Given the description of an element on the screen output the (x, y) to click on. 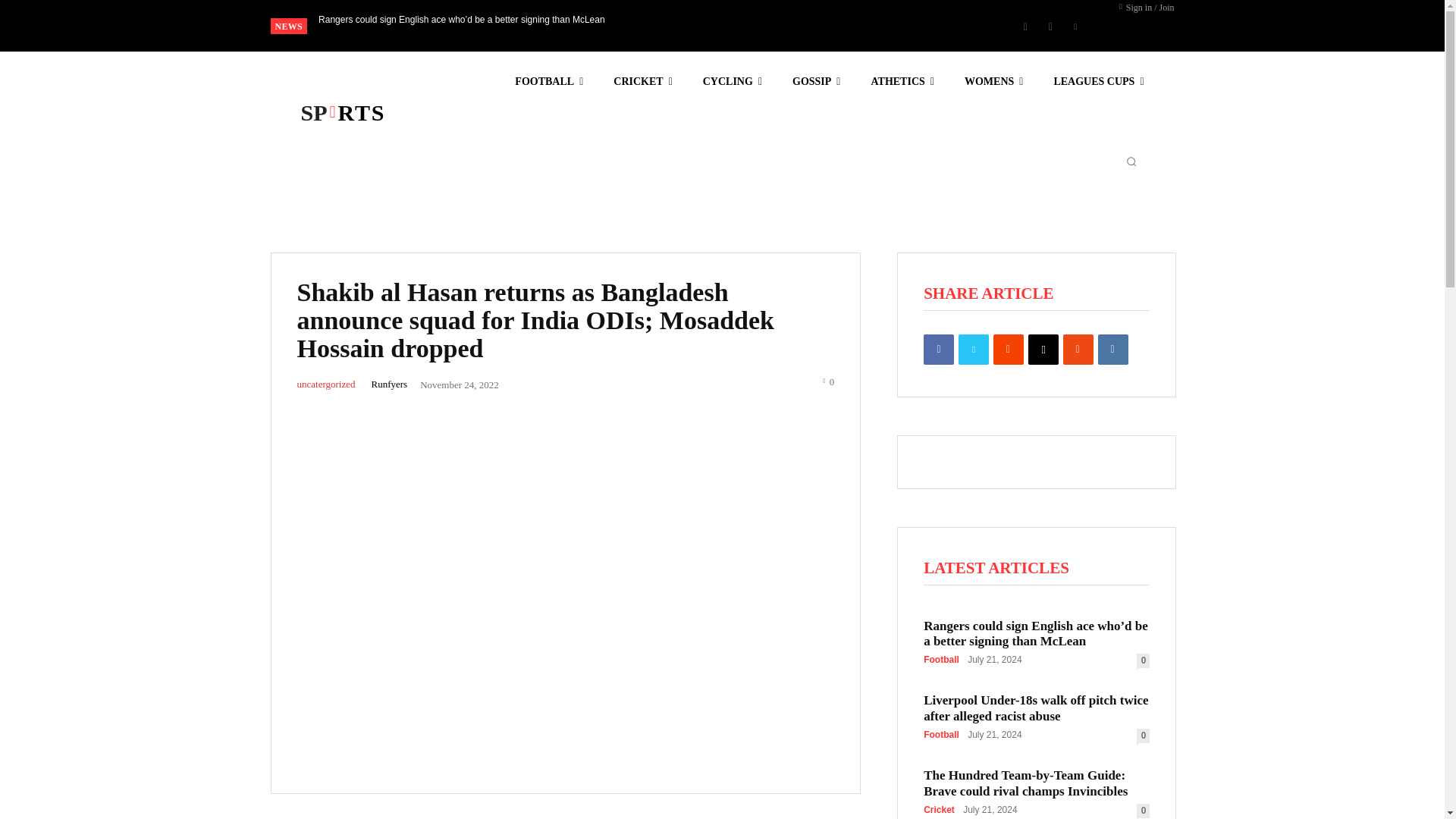
Instagram (1050, 25)
Twitter (1075, 25)
Facebook (1024, 25)
